Given the description of an element on the screen output the (x, y) to click on. 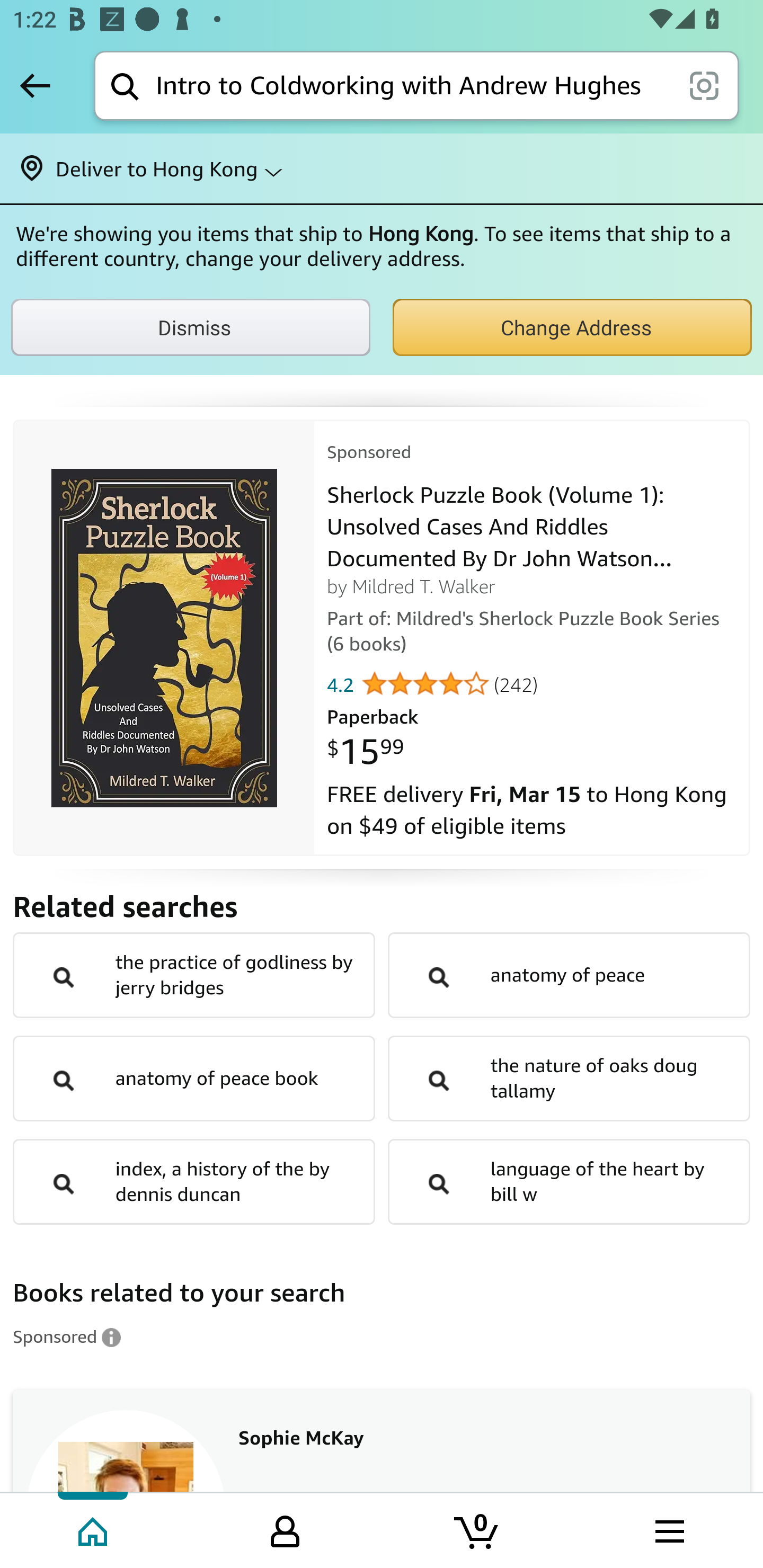
Back (35, 85)
scan it (704, 85)
Deliver to Hong Kong ⌵ (381, 168)
Dismiss (190, 327)
Change Address (571, 327)
the practice of godliness by jerry bridges (193, 974)
anatomy of peace (568, 974)
anatomy of peace book (193, 1077)
the nature of oaks doug tallamy (568, 1077)
index, a history of the by dennis duncan (193, 1181)
language of the heart by bill w (568, 1181)
Leave feedback on Sponsored ad (67, 1335)
Home Tab 1 of 4 (94, 1529)
Your Amazon.com Tab 2 of 4 (285, 1529)
Cart 0 item Tab 3 of 4 0 (477, 1529)
Browse menu Tab 4 of 4 (668, 1529)
